Given the description of an element on the screen output the (x, y) to click on. 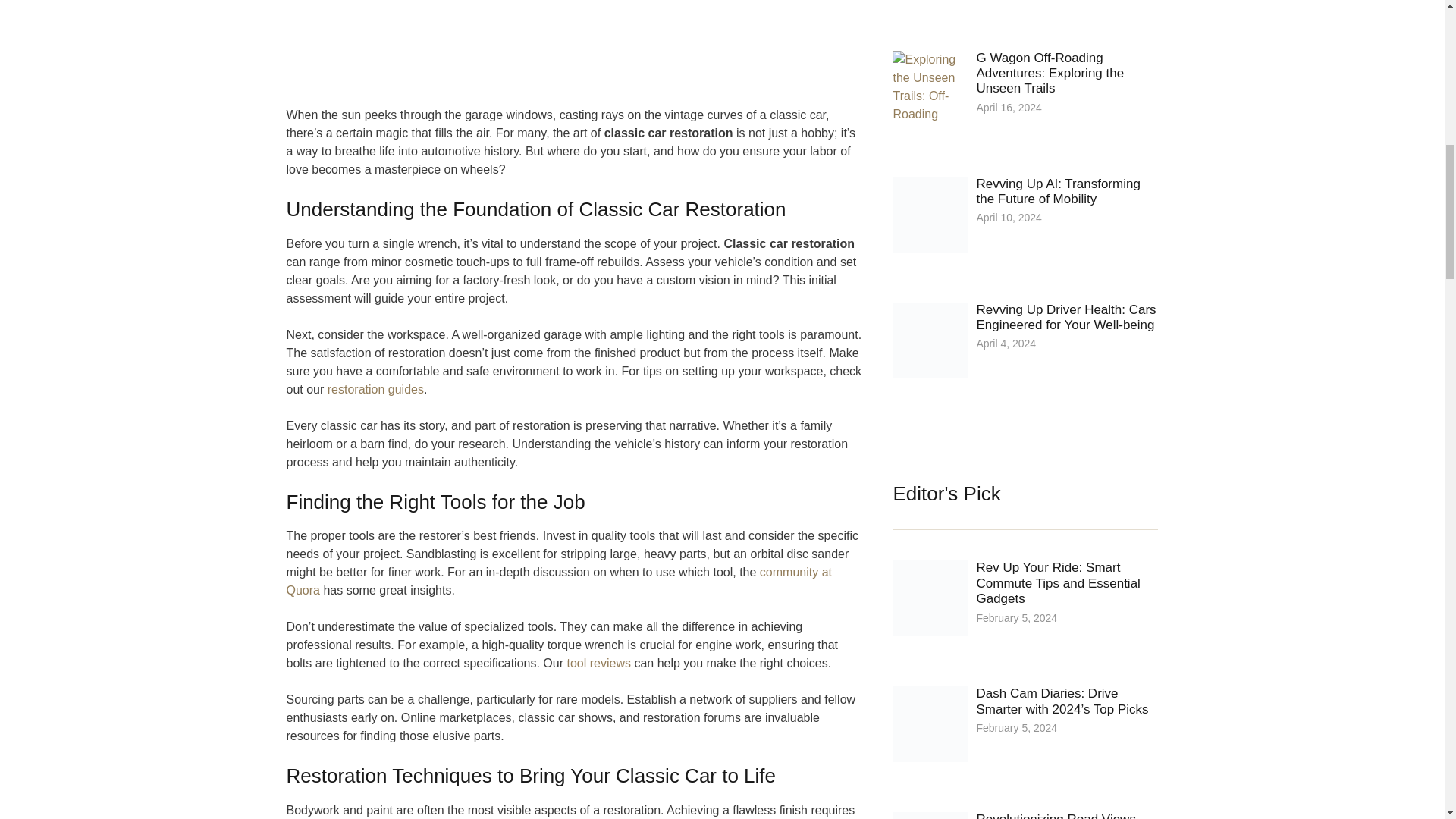
restoration guides (375, 389)
tool reviews (598, 662)
Classic Car Restoration Sandblasting Tips (558, 581)
Tool Reviews (598, 662)
Classic Car Restoration Guides (375, 389)
community at Quora (558, 581)
